Given the description of an element on the screen output the (x, y) to click on. 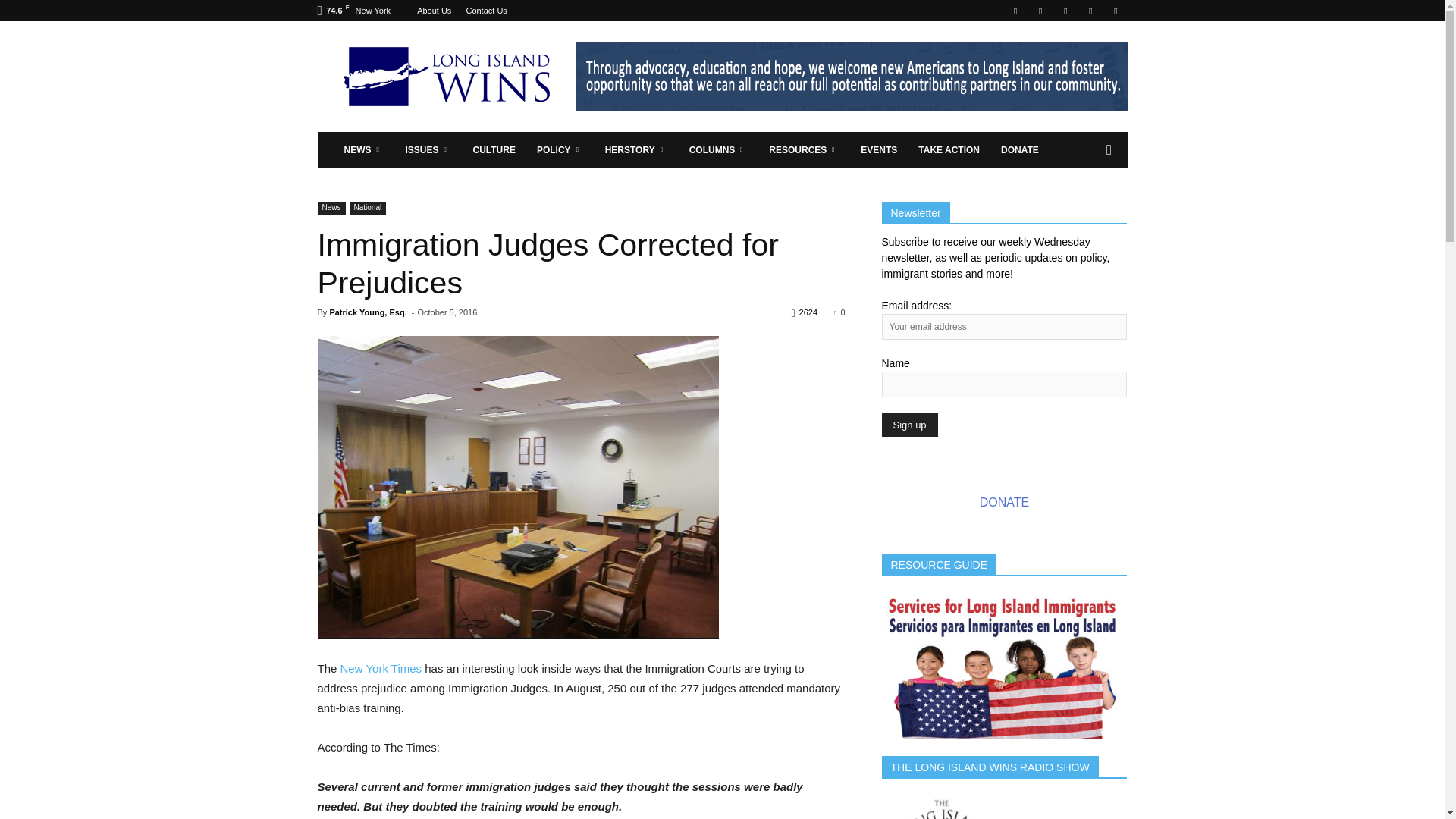
Soundcloud (1065, 10)
Sign up (908, 424)
Instagram (1040, 10)
court (517, 487)
Twitter (1090, 10)
Facebook (1015, 10)
Youtube (1114, 10)
